Given the description of an element on the screen output the (x, y) to click on. 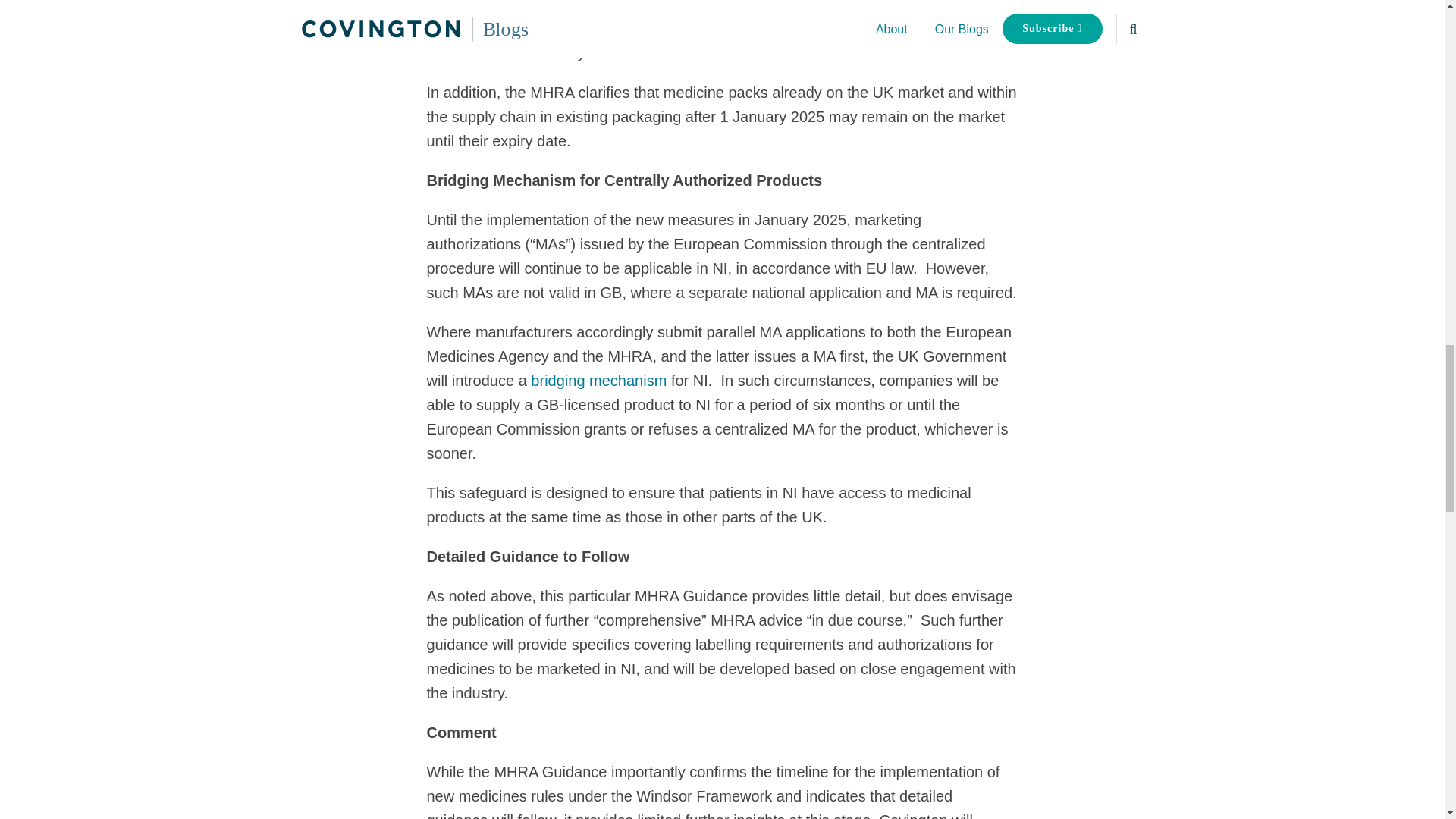
bridging mechanism (598, 380)
